Given the description of an element on the screen output the (x, y) to click on. 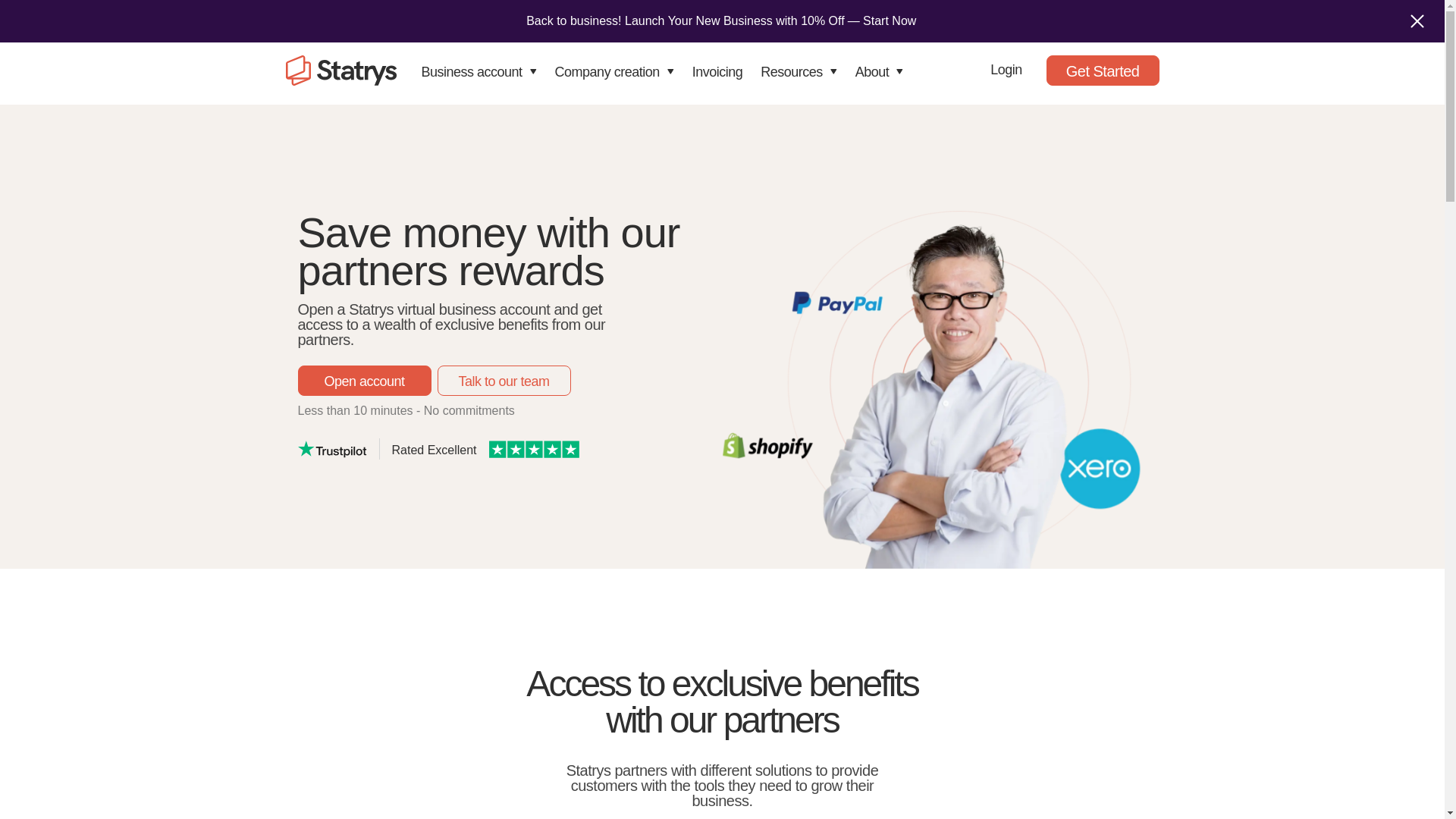
Open account (363, 380)
Rated Excellent (509, 448)
Login (1006, 69)
Get Started (1102, 70)
Talk to our team (503, 380)
Invoicing (717, 77)
